Given the description of an element on the screen output the (x, y) to click on. 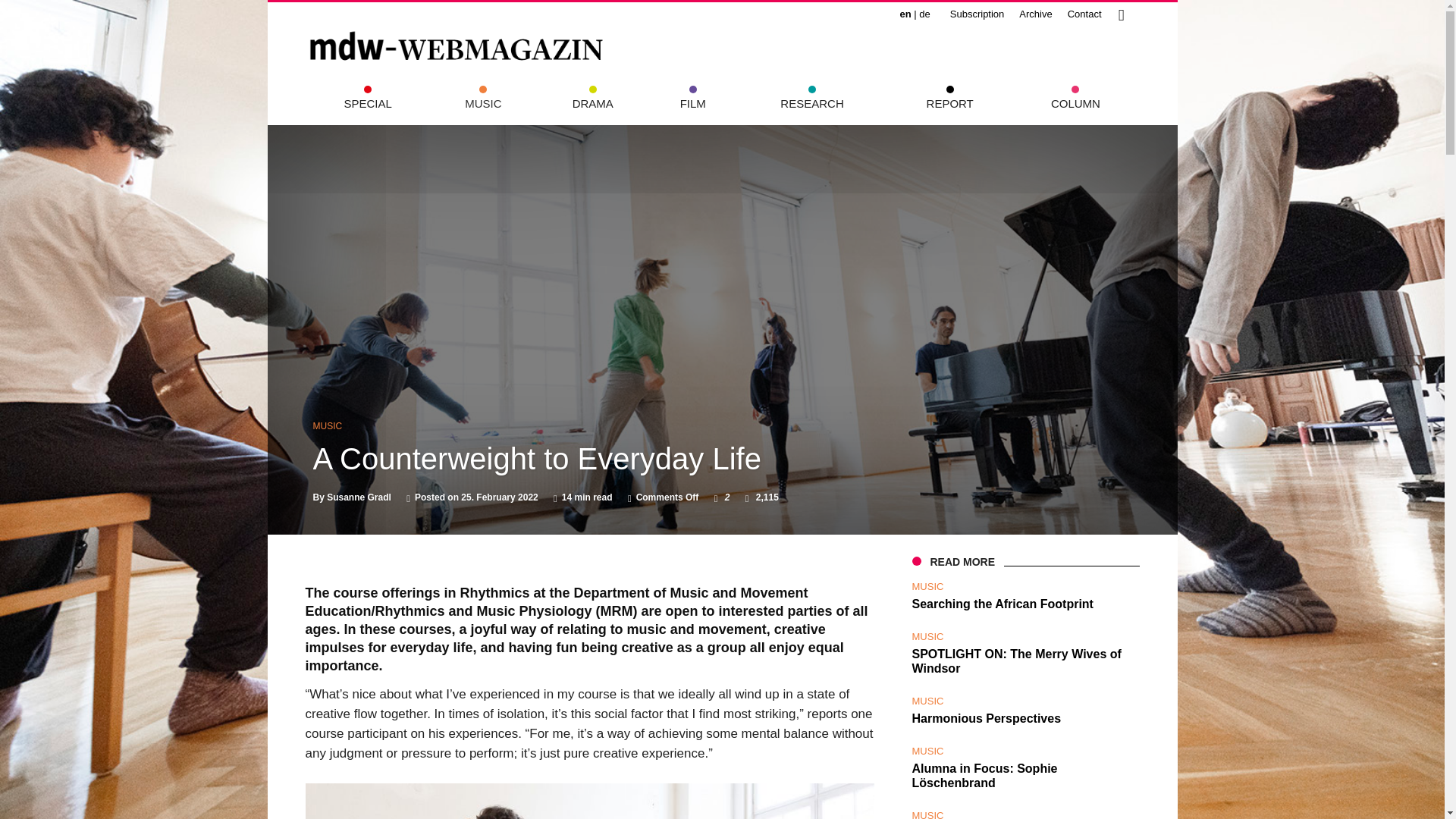
de (924, 13)
en (905, 13)
DRAMA (593, 103)
SPECIAL (367, 103)
SPOTLIGHT ON: The Merry Wives of Windsor (1024, 668)
MUSIC (327, 425)
Susanne Gradl (358, 497)
REPORT (949, 103)
MUSIC (927, 636)
Searching the African Footprint (1002, 604)
Posts by Susanne Gradl (358, 497)
COLUMN (1075, 103)
RESEARCH (812, 103)
MUSIC (927, 586)
Archive (1035, 14)
